Given the description of an element on the screen output the (x, y) to click on. 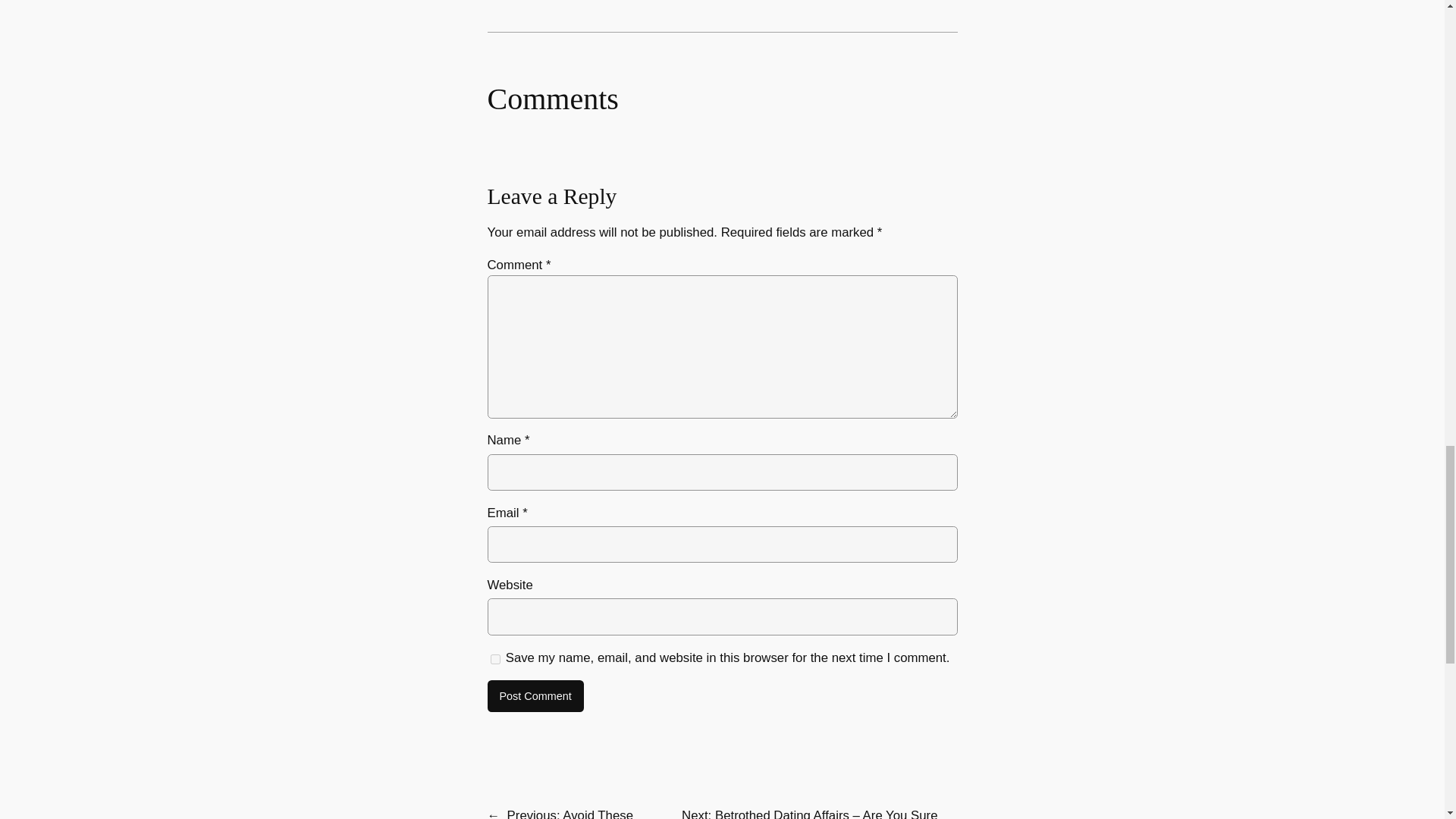
Post Comment (534, 695)
Previous: Avoid These Faults When Dating Online (562, 813)
Post Comment (534, 695)
